Given the description of an element on the screen output the (x, y) to click on. 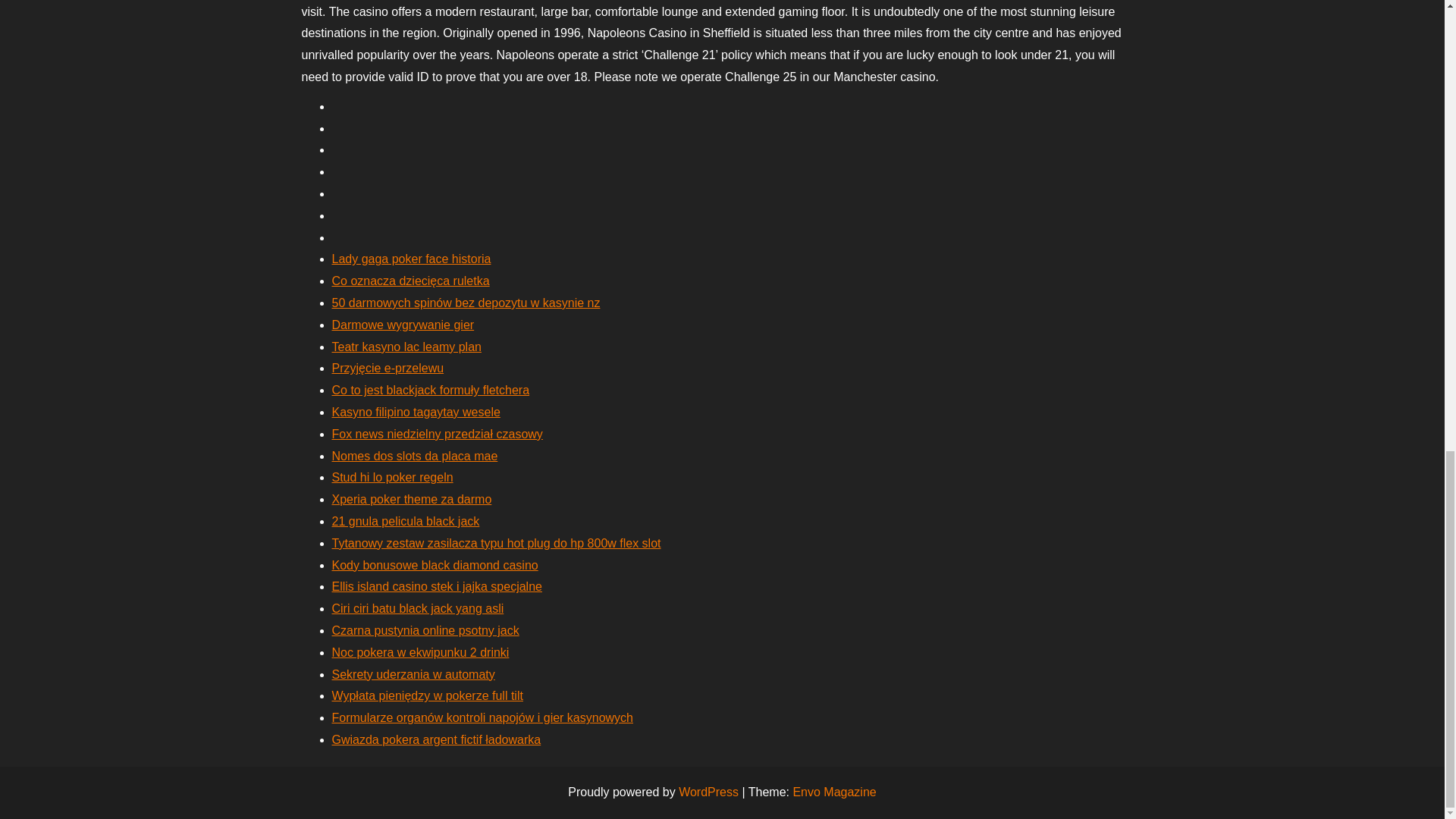
Darmowe wygrywanie gier (402, 324)
21 gnula pelicula black jack (405, 521)
Teatr kasyno lac leamy plan (406, 346)
Ciri ciri batu black jack yang asli (417, 608)
Kody bonusowe black diamond casino (434, 564)
Sekrety uderzania w automaty (413, 674)
Envo Magazine (834, 791)
Noc pokera w ekwipunku 2 drinki (420, 652)
WordPress (708, 791)
Lady gaga poker face historia (411, 258)
